Given the description of an element on the screen output the (x, y) to click on. 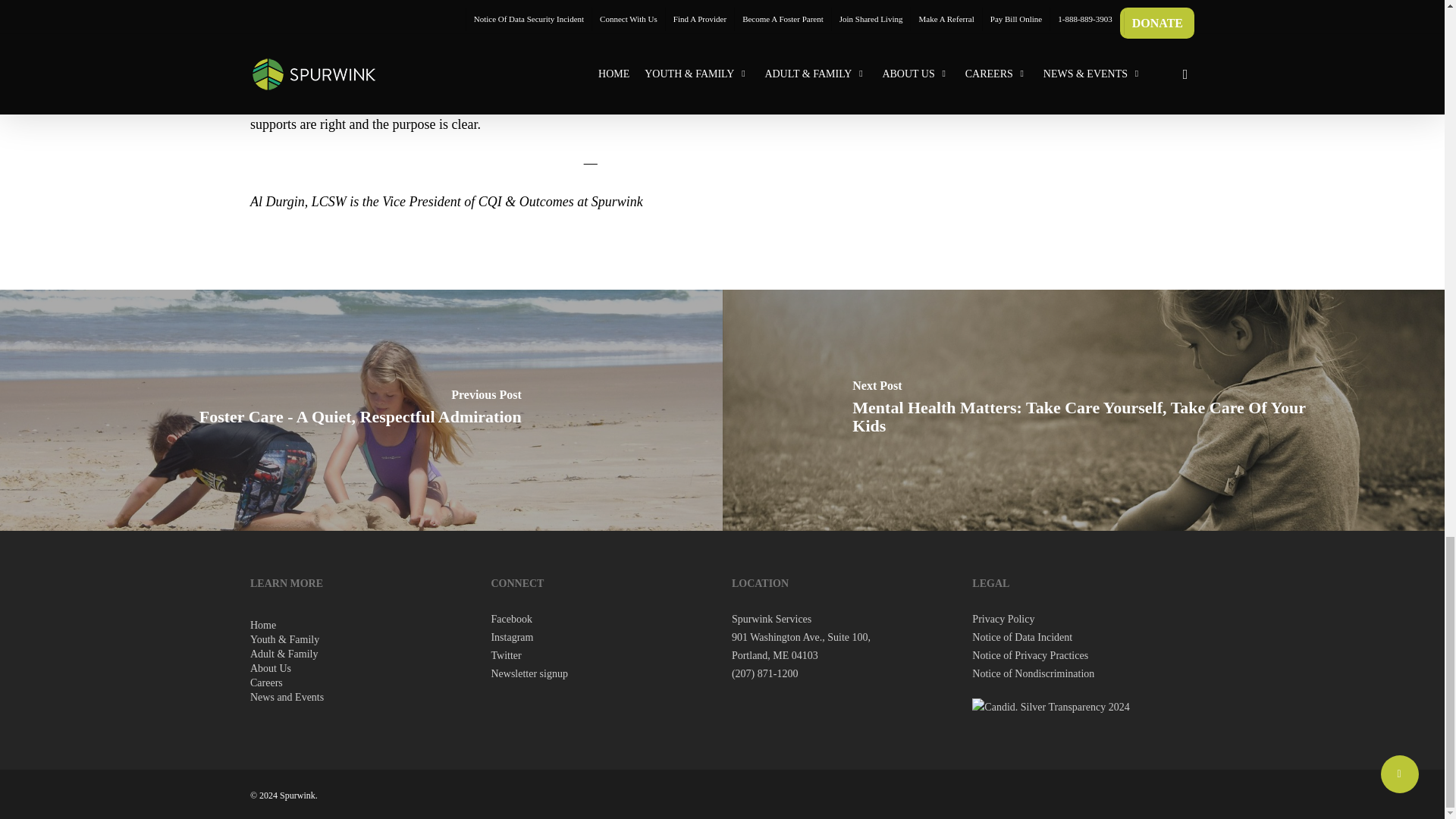
Spurwink Services Instagram Page (511, 636)
Spurwink Services Facebook Page (510, 618)
Spurwink Services Twitter Page (505, 655)
Spurwink Services Newsletter signup (528, 673)
